Given the description of an element on the screen output the (x, y) to click on. 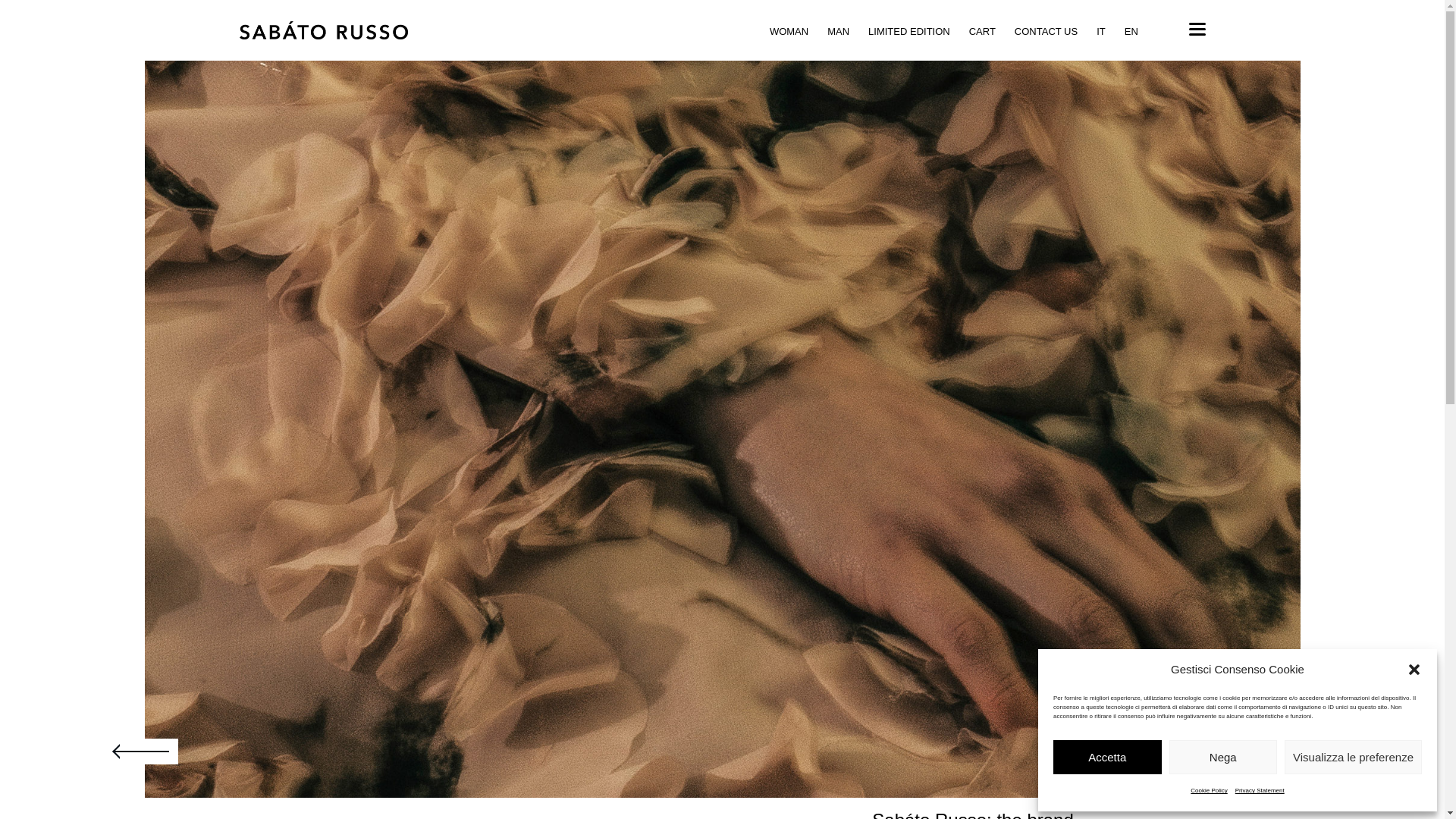
Cookie Policy (1209, 791)
LIMITED EDITION (908, 30)
MAN (837, 30)
Privacy Statement (1259, 791)
CONTACT US (1045, 30)
Nega (1223, 756)
CART (982, 30)
Risorsa 1logo (324, 30)
EN (1131, 30)
Visualizza le preferenze (1353, 756)
